Given the description of an element on the screen output the (x, y) to click on. 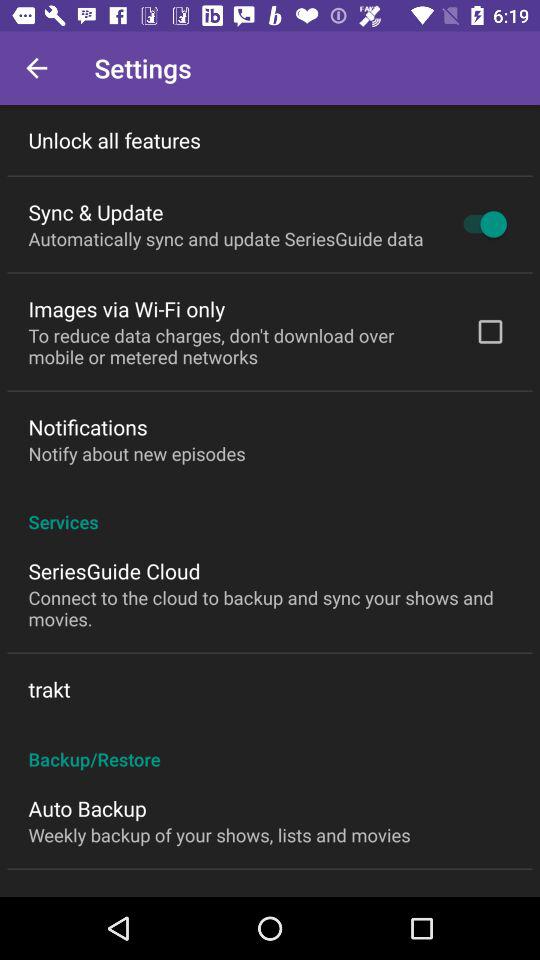
launch the unlock all features (114, 139)
